Given the description of an element on the screen output the (x, y) to click on. 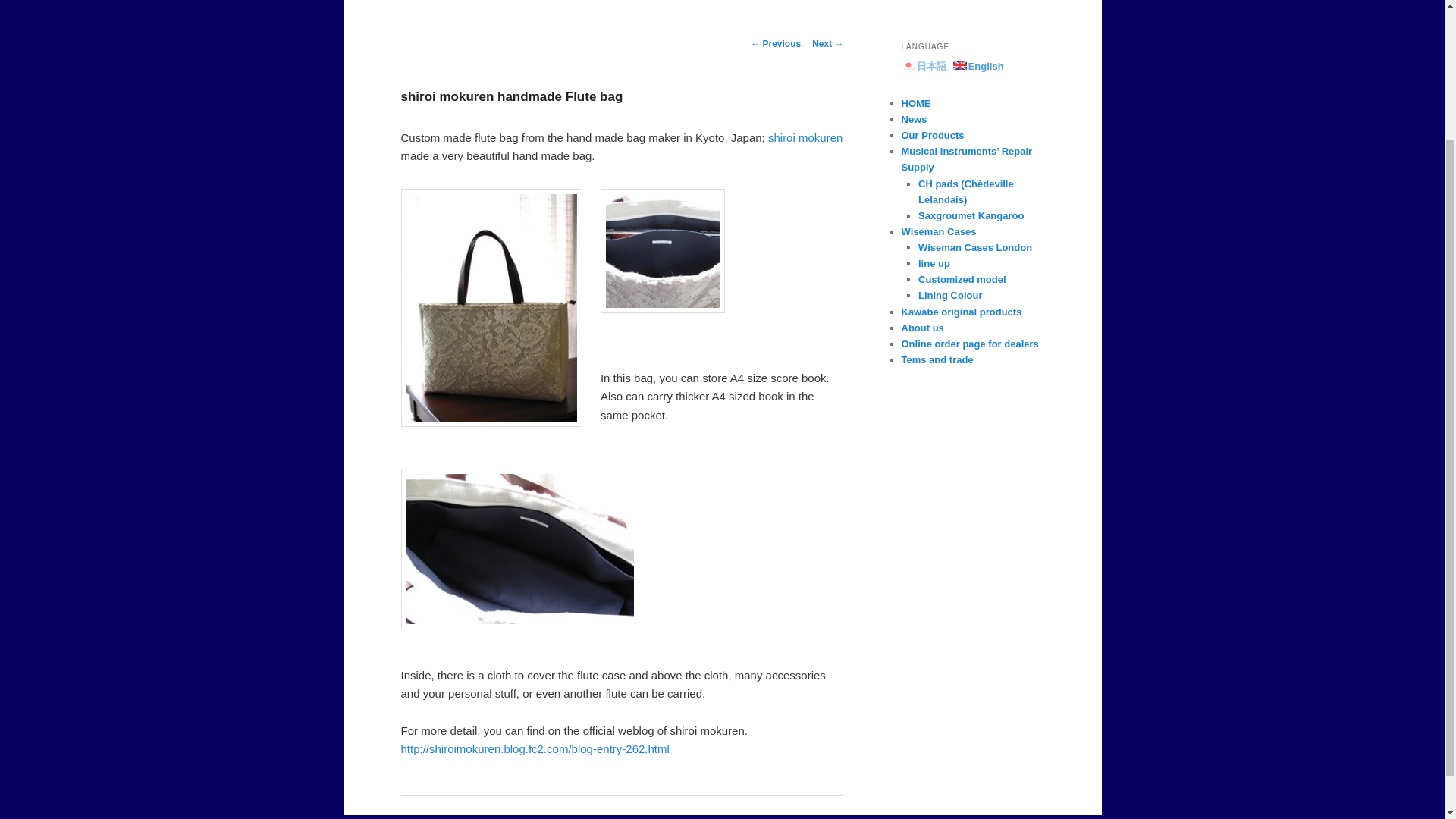
Tems and trade (936, 359)
Lining Colour (949, 295)
Wiseman Cases London (975, 247)
Customized model (962, 279)
Online order page for dealers (969, 343)
shiroi mokuren (805, 137)
HOME (915, 102)
English (978, 66)
line up (934, 263)
News (913, 119)
Our Products (932, 134)
Kawabe original products (961, 311)
About us (922, 327)
Saxgroumet Kangaroo (970, 215)
Wiseman Cases (938, 231)
